Given the description of an element on the screen output the (x, y) to click on. 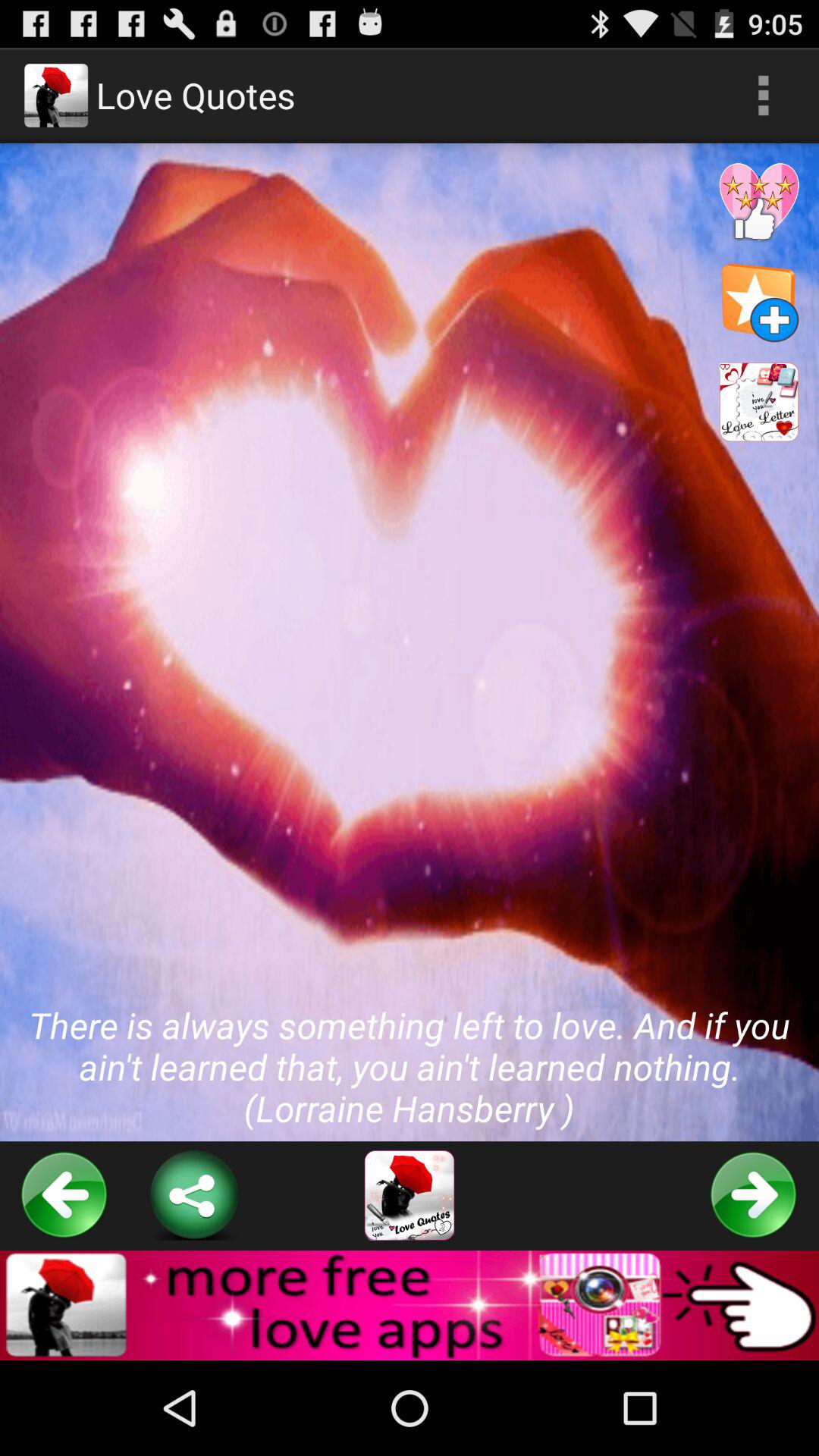
launch icon at the center (409, 642)
